Given the description of an element on the screen output the (x, y) to click on. 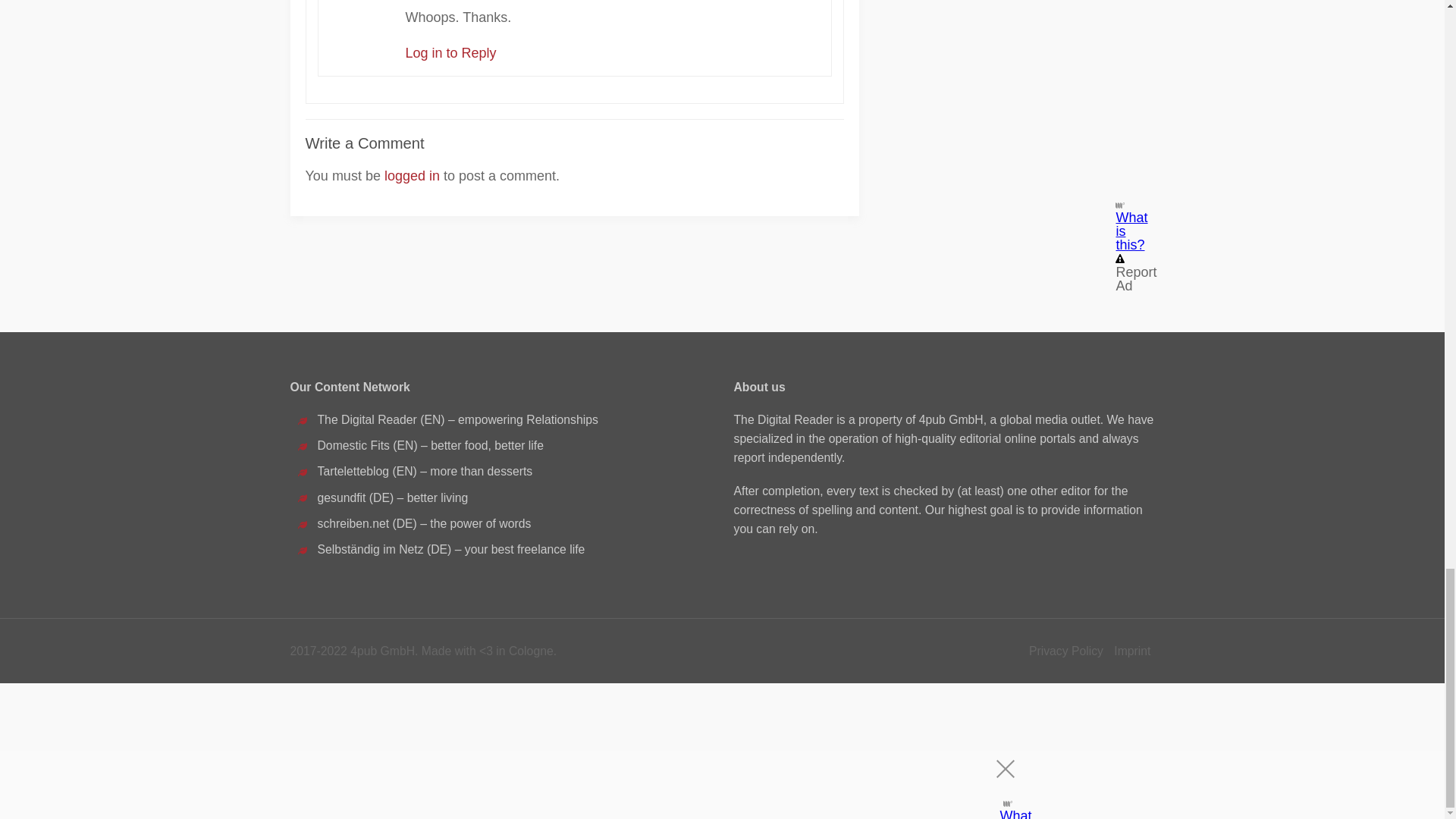
logged in (411, 175)
Log in to Reply (450, 52)
